Given the description of an element on the screen output the (x, y) to click on. 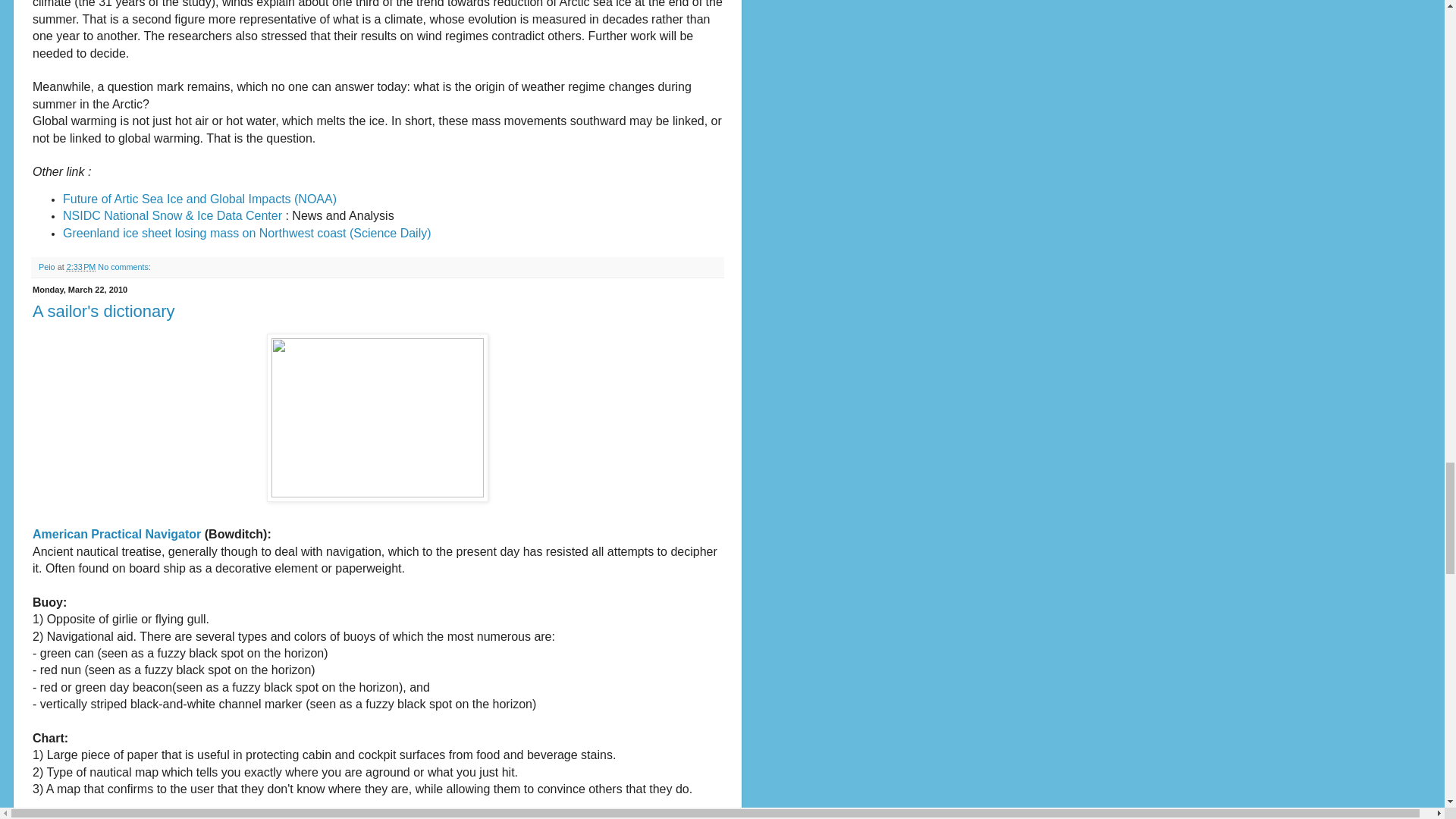
author profile (48, 266)
permanent link (81, 266)
